Given the description of an element on the screen output the (x, y) to click on. 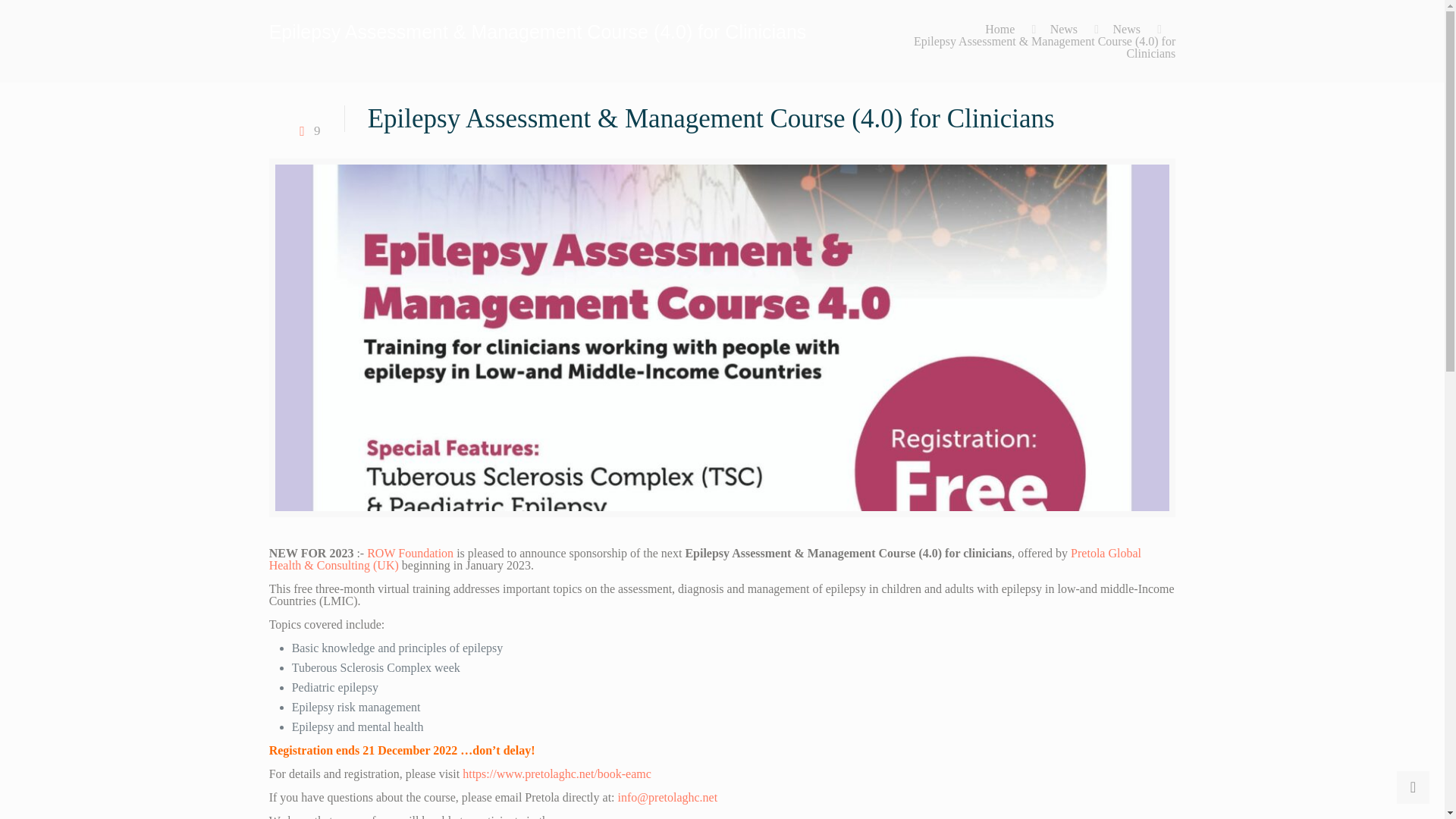
News (1126, 29)
News (1063, 29)
Home (999, 29)
ROW Foundation (409, 553)
9 (306, 130)
